Given the description of an element on the screen output the (x, y) to click on. 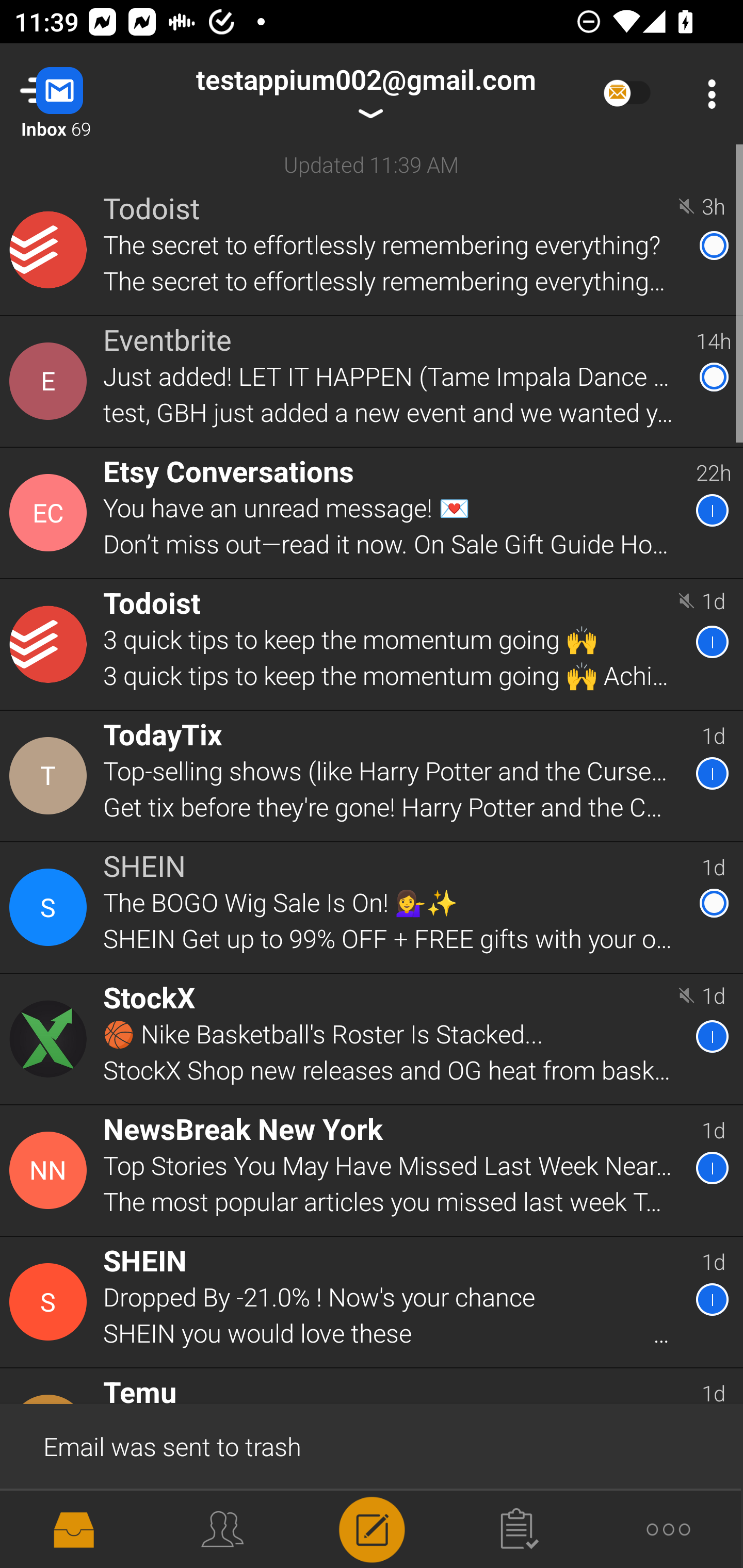
Navigate up (81, 93)
testappium002@gmail.com (365, 93)
More Options (706, 93)
Updated 11:39 AM (371, 164)
Contact Details (50, 250)
Contact Details (50, 381)
Contact Details (50, 513)
Contact Details (50, 644)
Contact Details (50, 776)
Contact Details (50, 907)
Contact Details (50, 1038)
Contact Details (50, 1170)
Contact Details (50, 1302)
Email was sent to trash (371, 1445)
Compose (371, 1528)
